Given the description of an element on the screen output the (x, y) to click on. 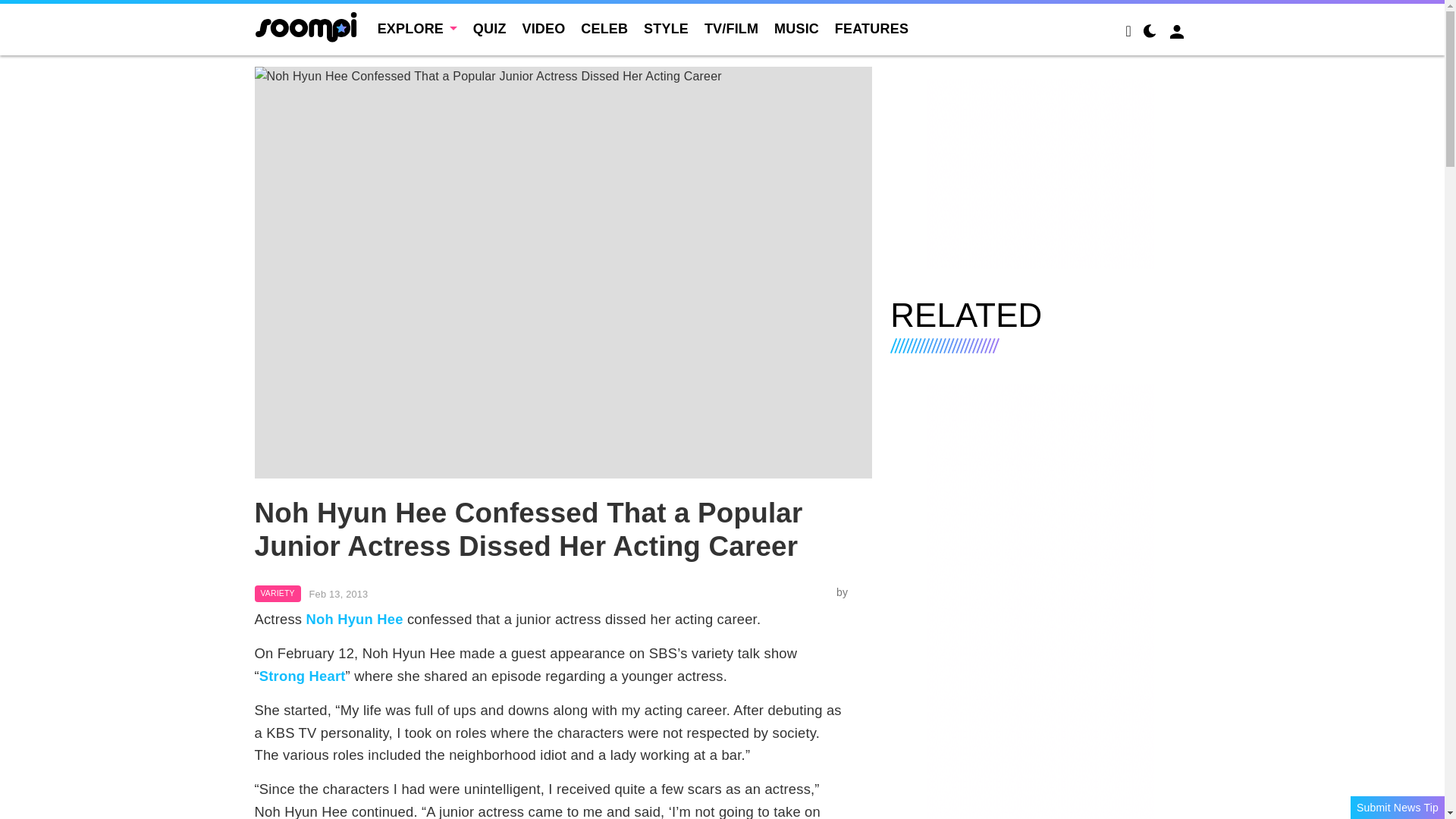
VIDEO (542, 28)
Noh Hyun Hee (354, 618)
FEATURES (871, 28)
EXPLORE (417, 28)
Strong Heart (302, 675)
Variety (277, 593)
CELEB (603, 28)
QUIZ (489, 28)
MUSIC (796, 28)
VARIETY (277, 593)
Night Mode Toggle (1149, 33)
STYLE (665, 28)
3rd party ad content (1040, 173)
